Given the description of an element on the screen output the (x, y) to click on. 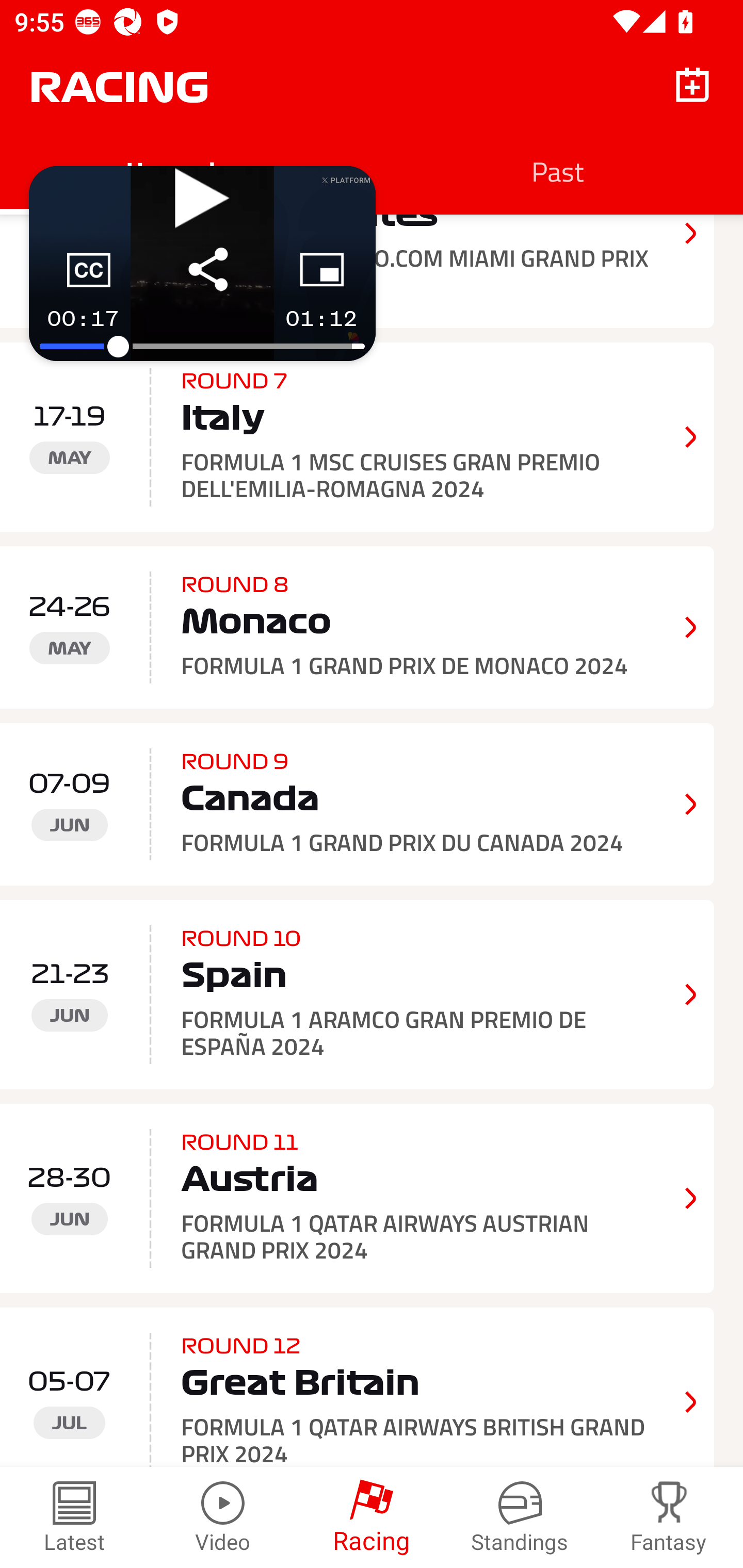
Past (557, 171)
Latest (74, 1517)
Video (222, 1517)
Standings (519, 1517)
Fantasy (668, 1517)
